Given the description of an element on the screen output the (x, y) to click on. 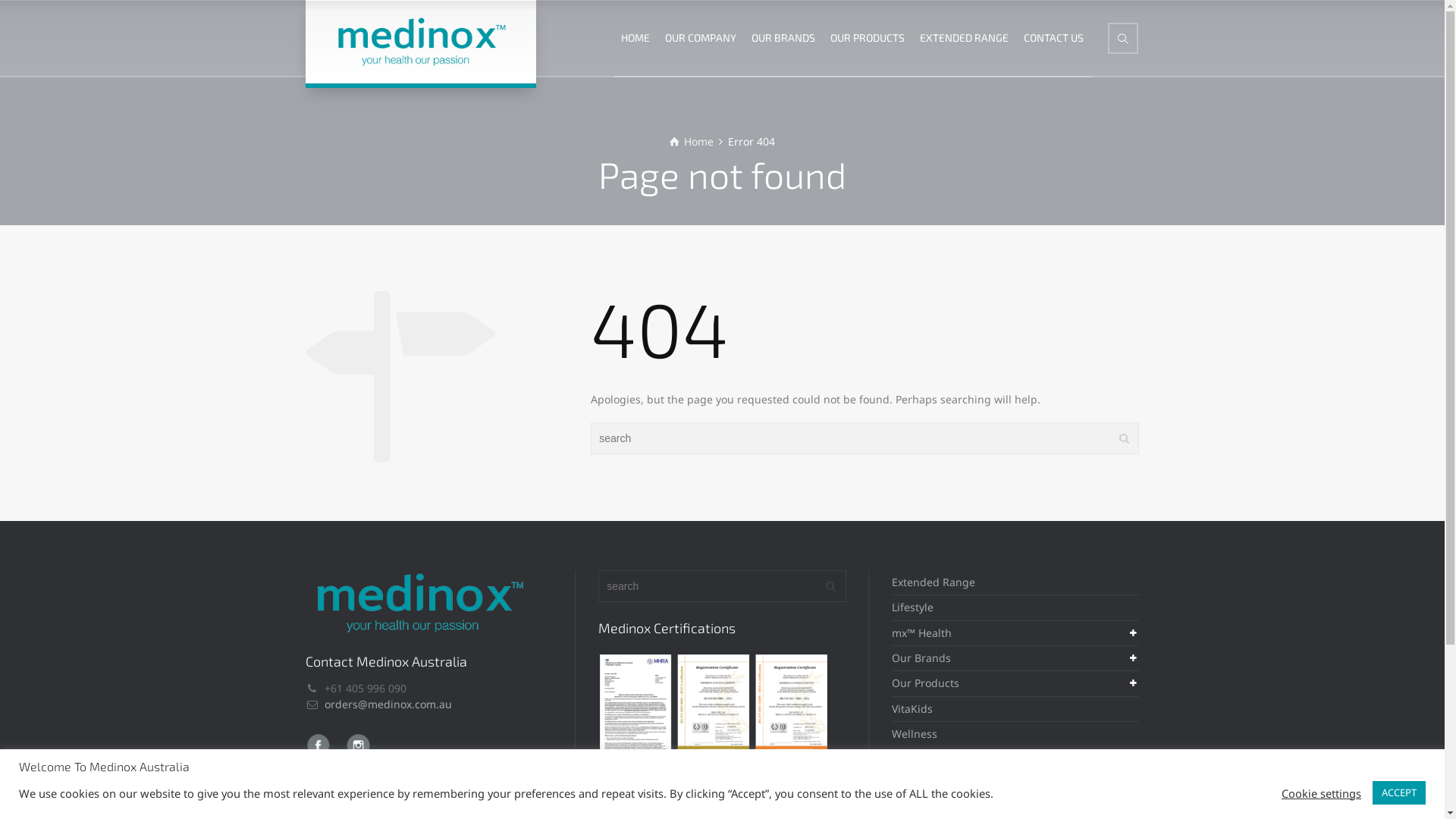
HOME Element type: text (635, 37)
Home Element type: text (691, 141)
VitaKids Element type: text (911, 708)
Wellness Element type: text (914, 733)
EXTENDED RANGE Element type: text (964, 37)
Search Element type: hover (1122, 38)
Cookie settings Element type: text (1321, 792)
ACCEPT Element type: text (1398, 792)
Extended Range Element type: text (933, 581)
OUR BRANDS Element type: text (782, 37)
Lifestyle Element type: text (912, 606)
OUR COMPANY Element type: text (700, 37)
Medinox Australia Element type: hover (419, 41)
CONTACT US Element type: text (1053, 37)
Our Brands Element type: text (920, 657)
OUR PRODUCTS Element type: text (867, 37)
orders@medinox.com.au Element type: text (387, 703)
Our Products Element type: text (925, 682)
